Given the description of an element on the screen output the (x, y) to click on. 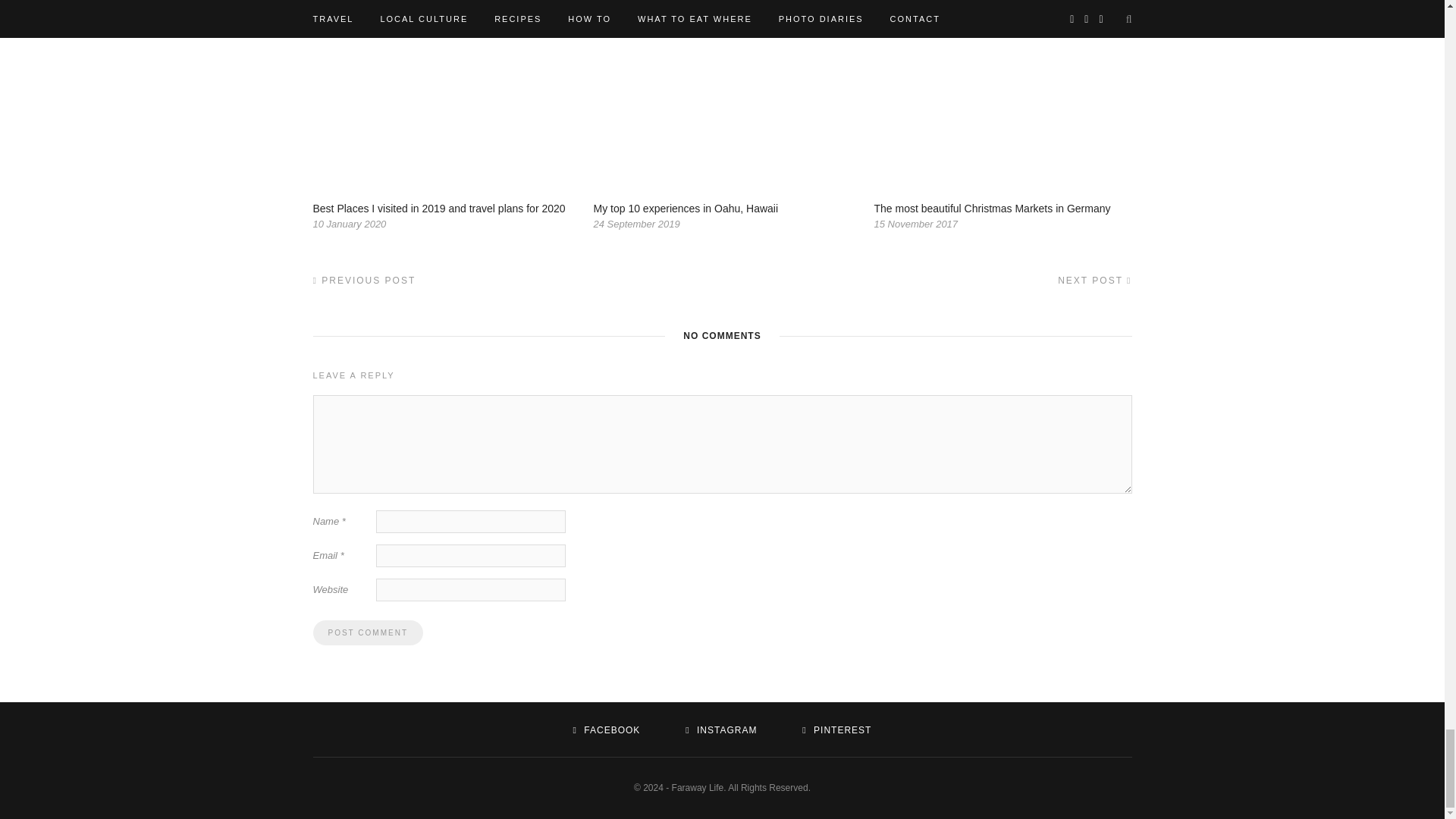
My top 10 experiences in Oahu, Hawaii (684, 208)
Best Places I visited in 2019 and travel plans for 2020 (438, 208)
Post Comment (367, 632)
